Given the description of an element on the screen output the (x, y) to click on. 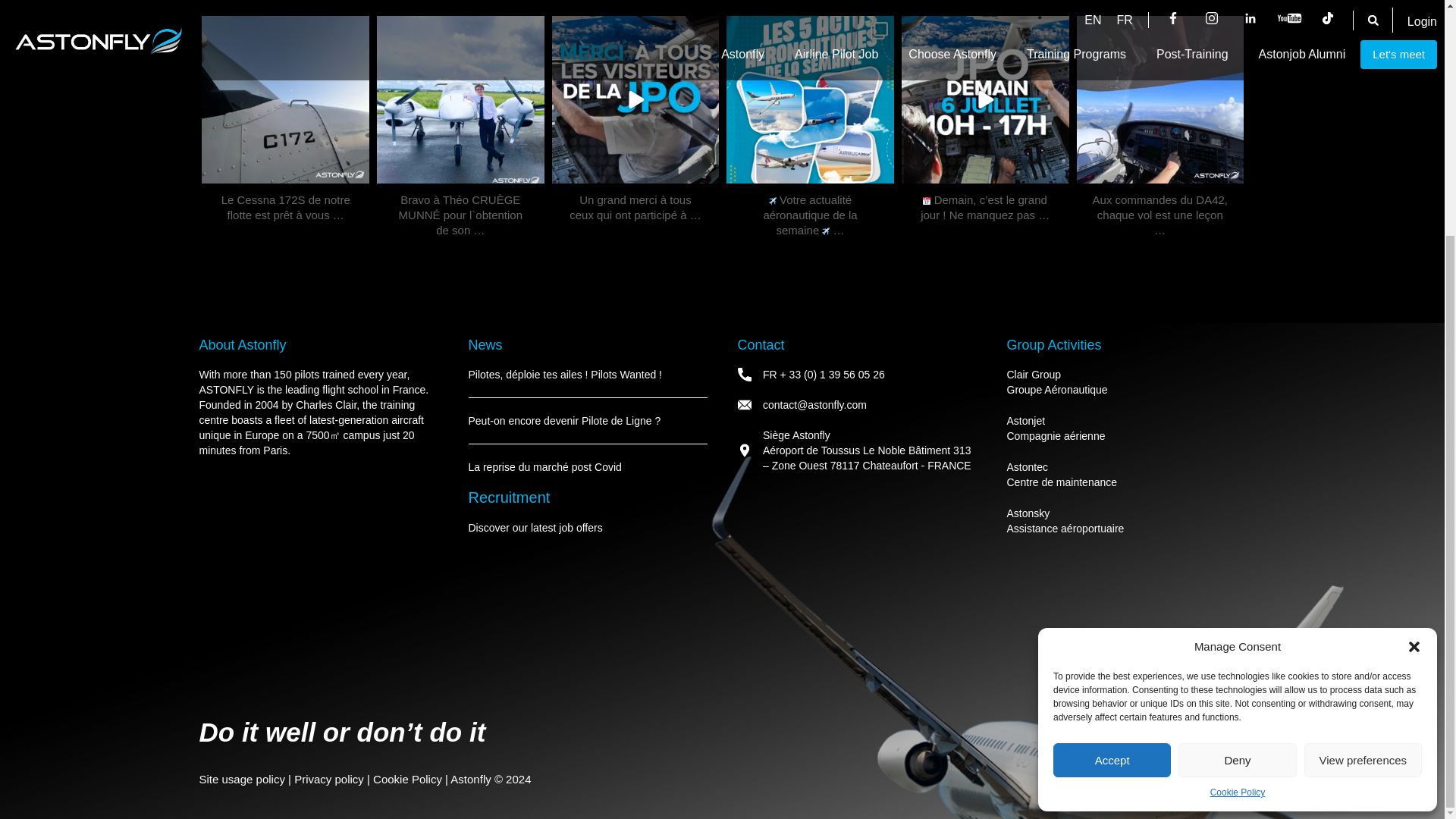
Cookie Policy (1237, 471)
Accept (1111, 439)
Deny (1236, 439)
View preferences (1363, 439)
